Given the description of an element on the screen output the (x, y) to click on. 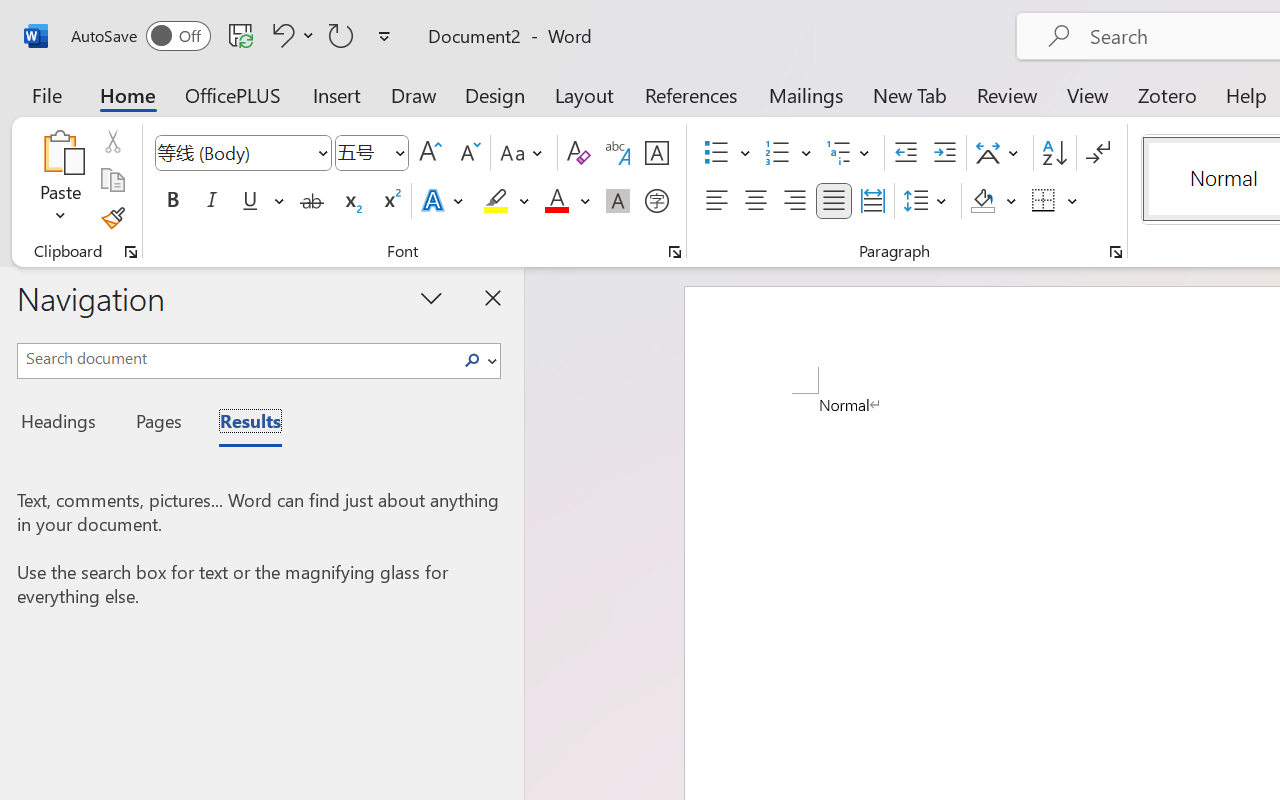
Font Size (362, 152)
Bullets (727, 153)
Bullets (716, 153)
Grow Font (430, 153)
Task Pane Options (431, 297)
Office Clipboard... (131, 252)
OfficePLUS (233, 94)
Superscript (390, 201)
Font Size (372, 153)
